Given the description of an element on the screen output the (x, y) to click on. 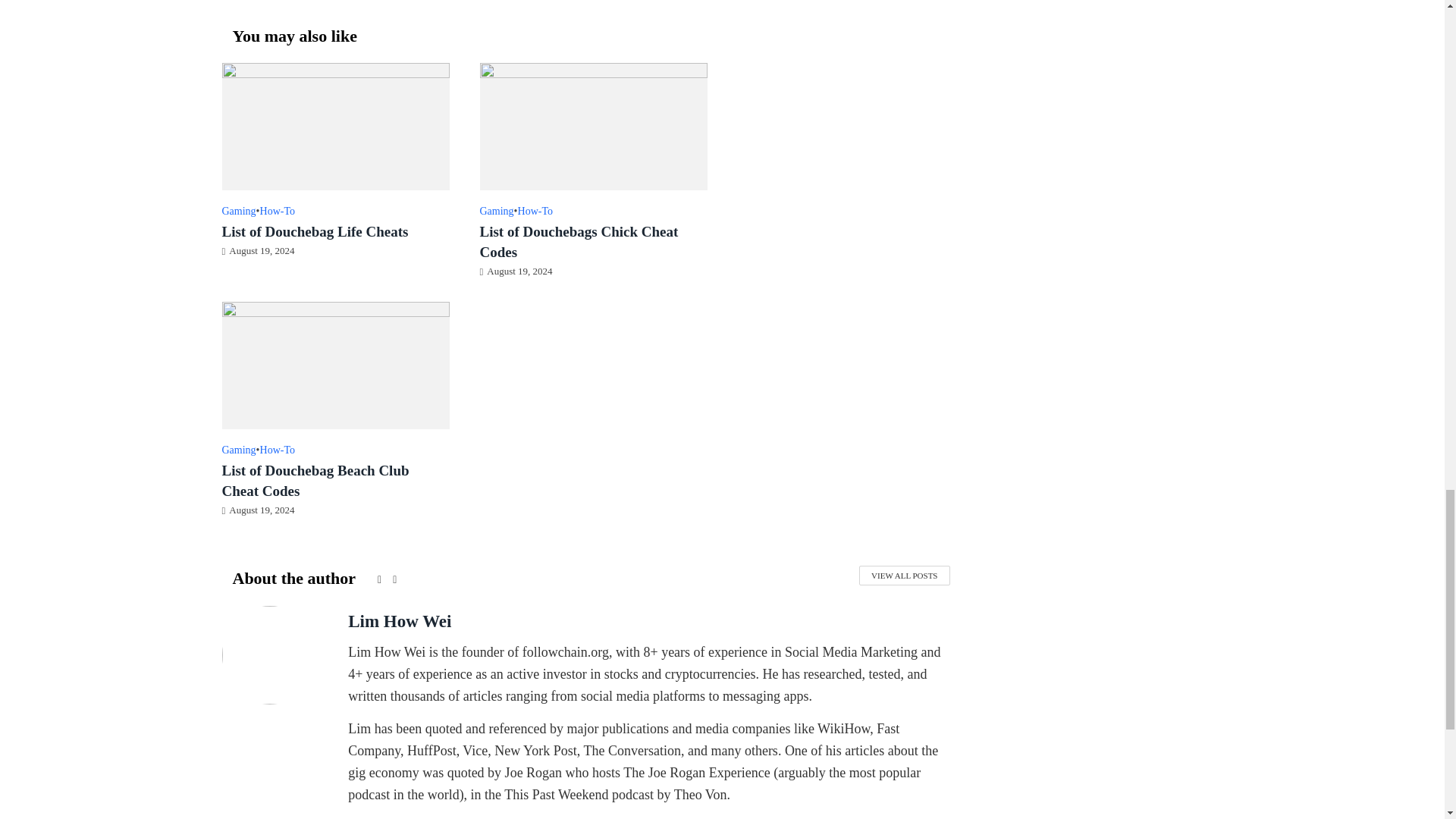
List of Douchebag Beach Club Cheat Codes (334, 364)
List of Douchebags Chick Cheat Codes (592, 125)
List of Douchebag Life Cheats (334, 125)
